Given the description of an element on the screen output the (x, y) to click on. 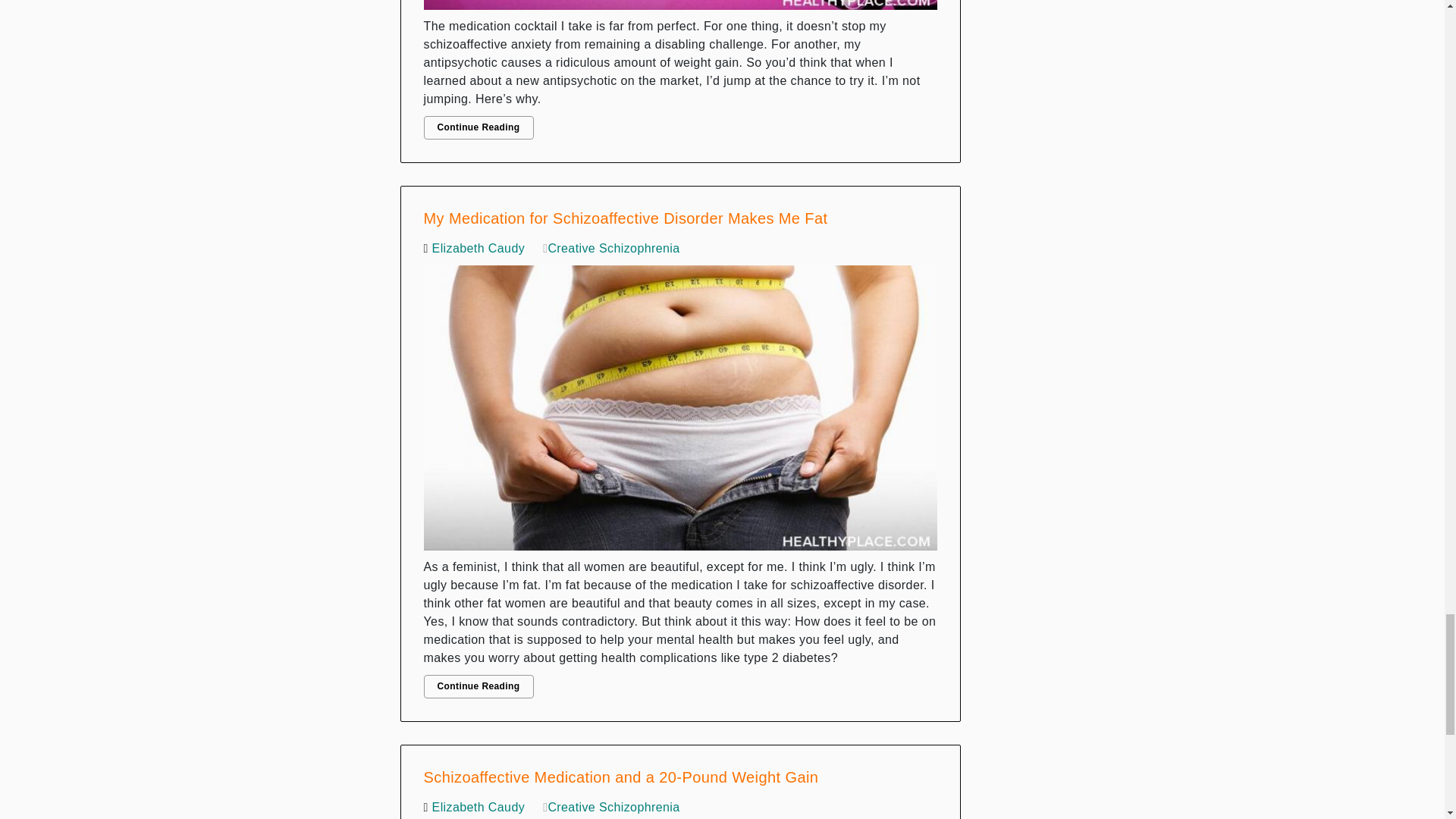
I'm Not Changing Antipsychotics for Schizoaffective Disorder (680, 8)
